Given the description of an element on the screen output the (x, y) to click on. 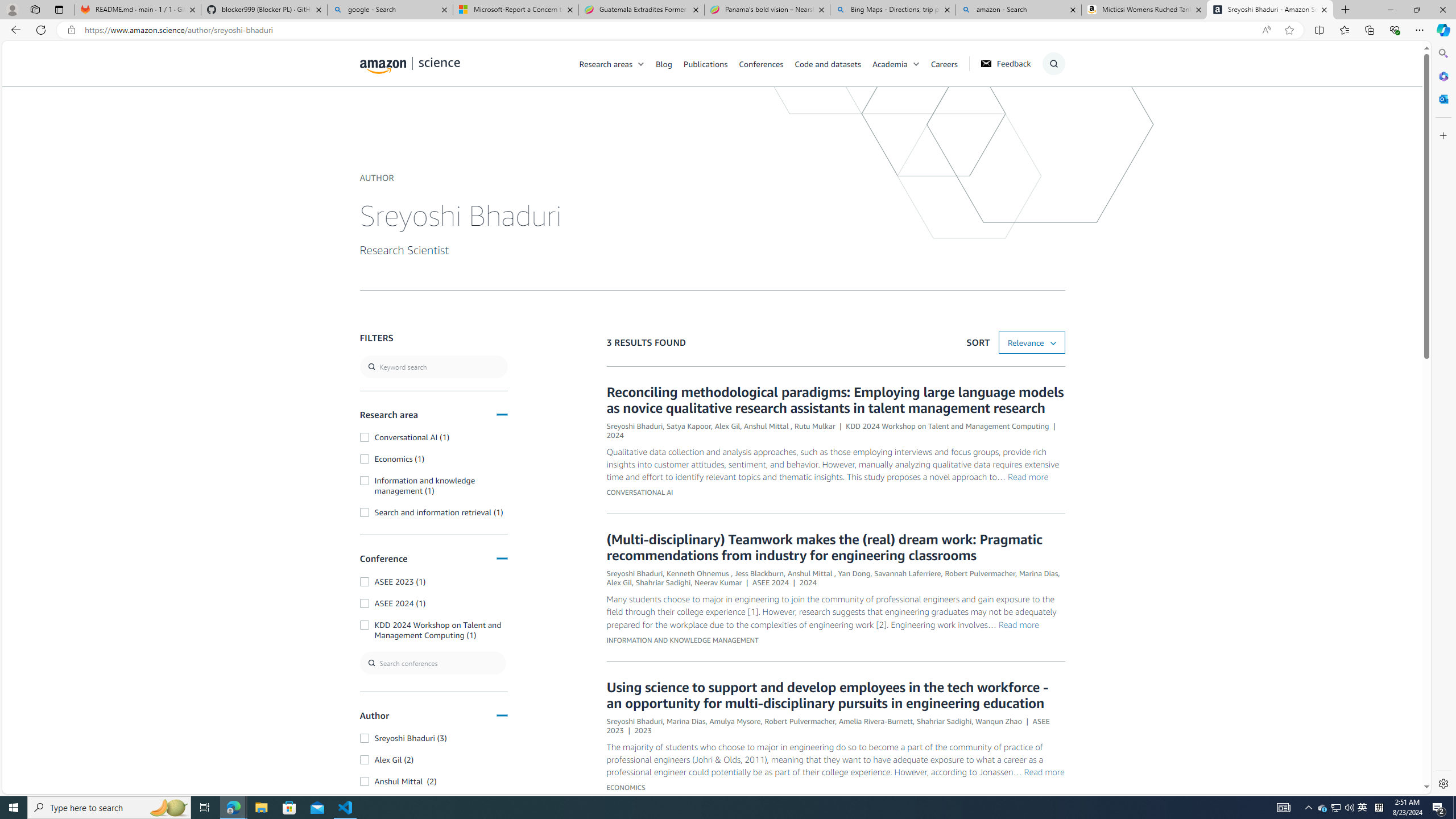
home page (409, 62)
Publications (710, 63)
ECONOMICS (625, 786)
Rutu Mulkar (814, 425)
KDD 2024 Workshop on Talent and Management Computing (947, 425)
Research areas (606, 63)
